Given the description of an element on the screen output the (x, y) to click on. 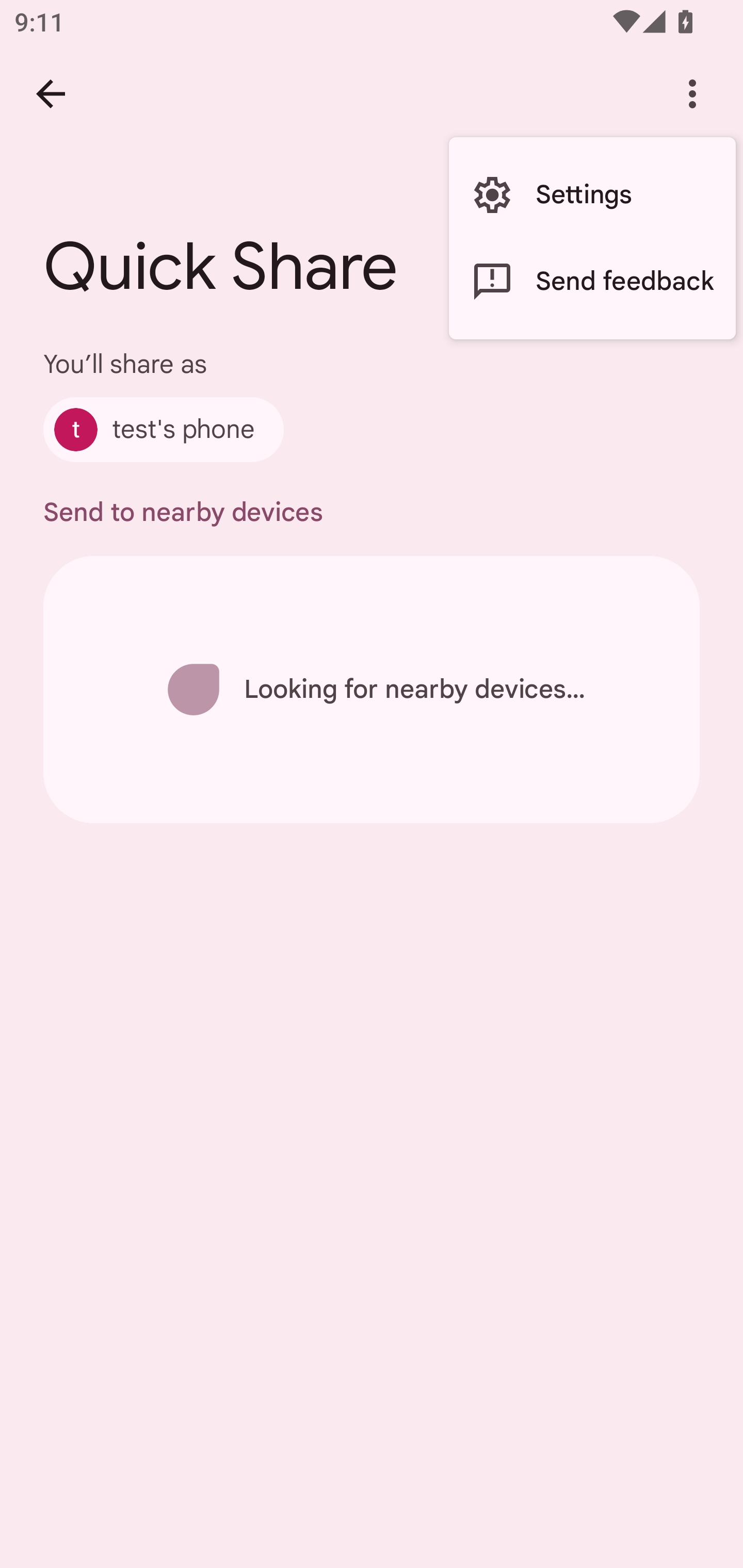
Settings (591, 195)
Send feedback (591, 281)
